Given the description of an element on the screen output the (x, y) to click on. 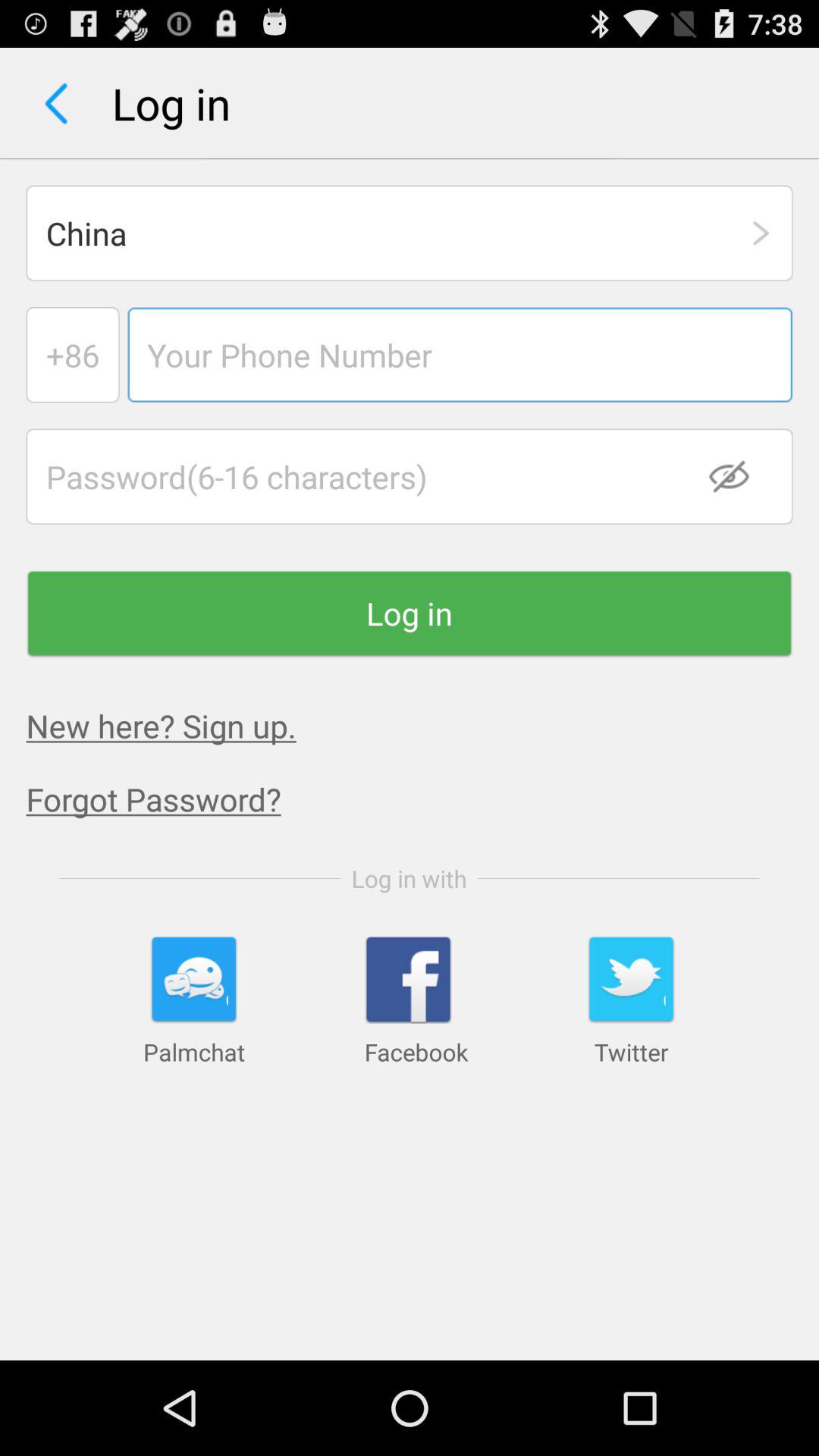
go back (56, 103)
